Given the description of an element on the screen output the (x, y) to click on. 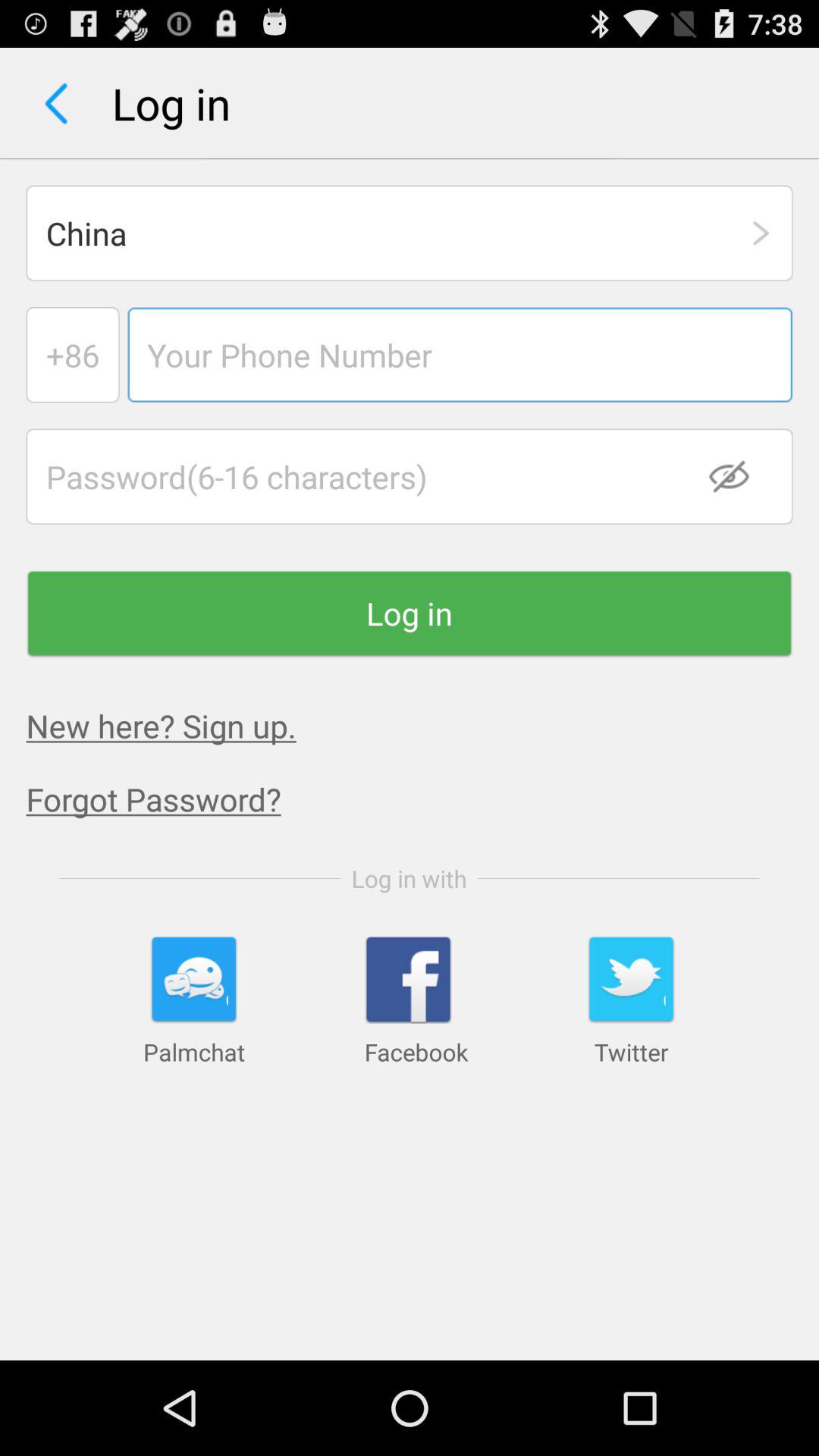
go back (56, 103)
